Given the description of an element on the screen output the (x, y) to click on. 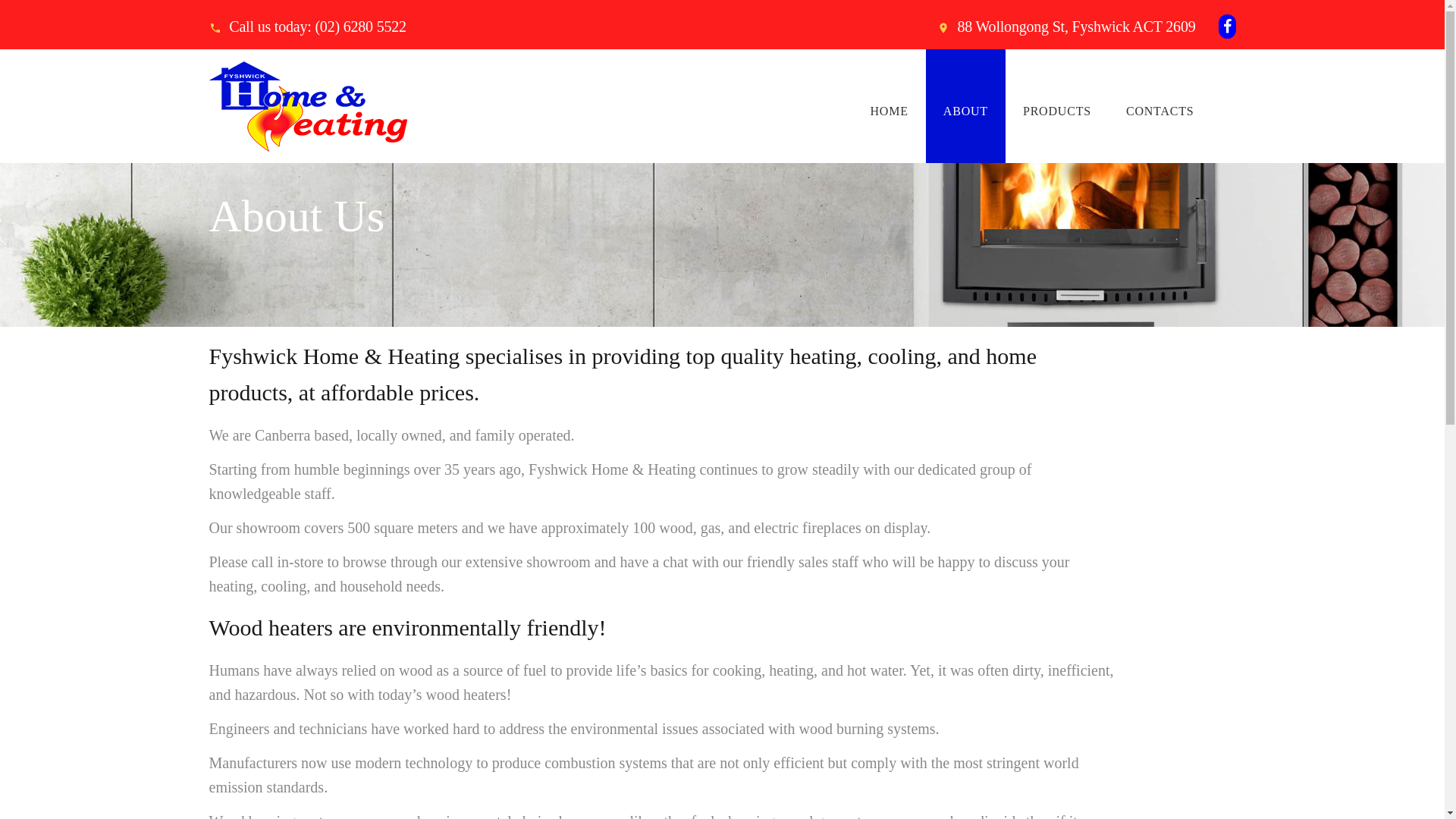
HOME Element type: text (889, 109)
PRODUCTS Element type: text (1056, 109)
Home Element type: text (221, 196)
facebook Element type: text (1226, 26)
CONTACTS Element type: text (1159, 109)
ABOUT Element type: text (965, 109)
Skip to content Element type: text (0, 0)
